Given the description of an element on the screen output the (x, y) to click on. 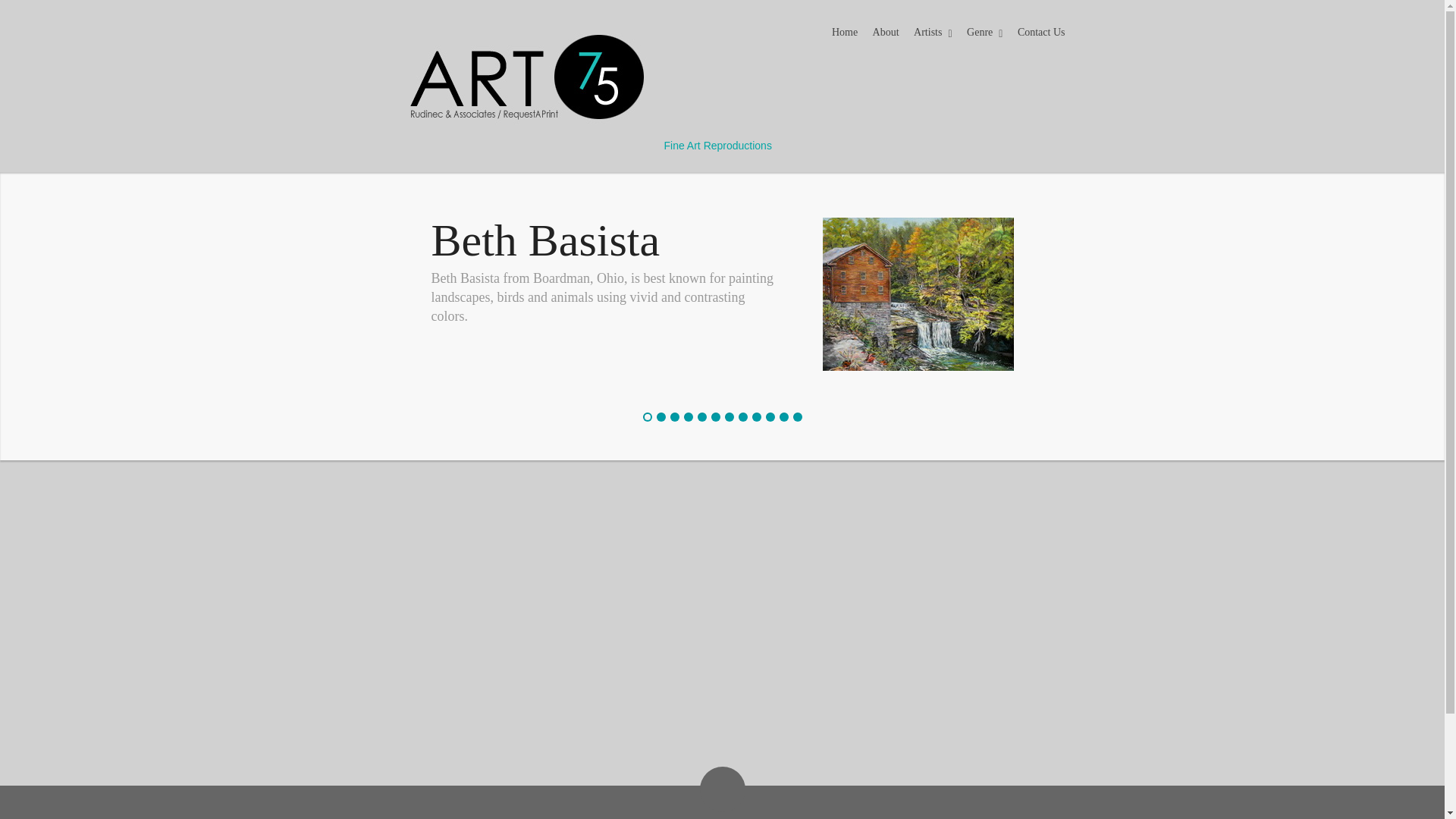
Home (844, 33)
Art 75 (512, 146)
Skip to content (857, 27)
Artists (933, 34)
About (885, 33)
Genre (984, 34)
Skip to content (857, 27)
